Given the description of an element on the screen output the (x, y) to click on. 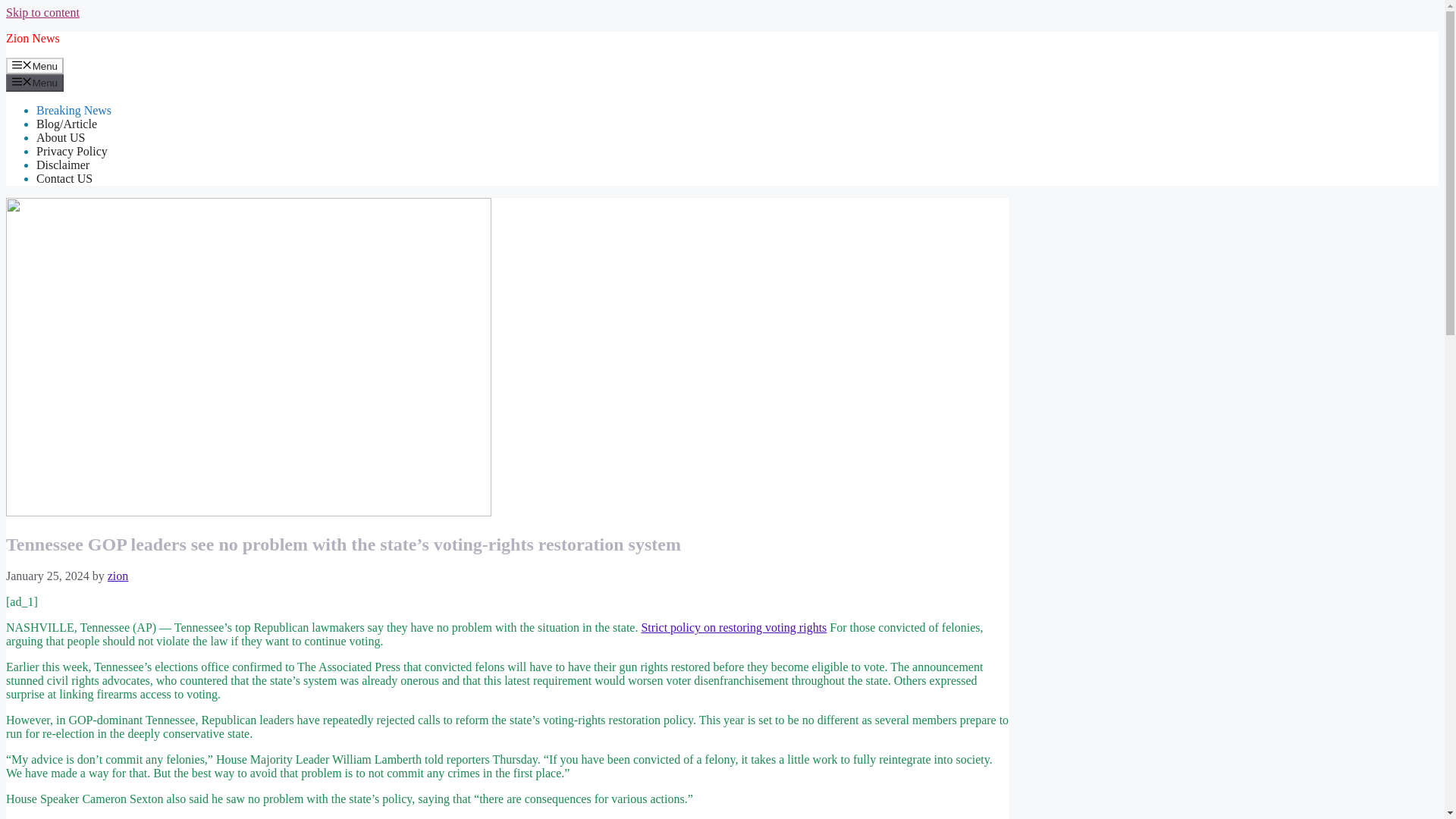
View all posts by zion (118, 575)
zion (118, 575)
Zion News (32, 38)
Skip to content (42, 11)
About US (60, 137)
Strict policy on restoring voting rights (733, 626)
Disclaimer (62, 164)
Privacy Policy (71, 151)
Menu (34, 82)
Skip to content (42, 11)
Breaking News (74, 110)
Menu (34, 65)
Contact US (64, 178)
